Given the description of an element on the screen output the (x, y) to click on. 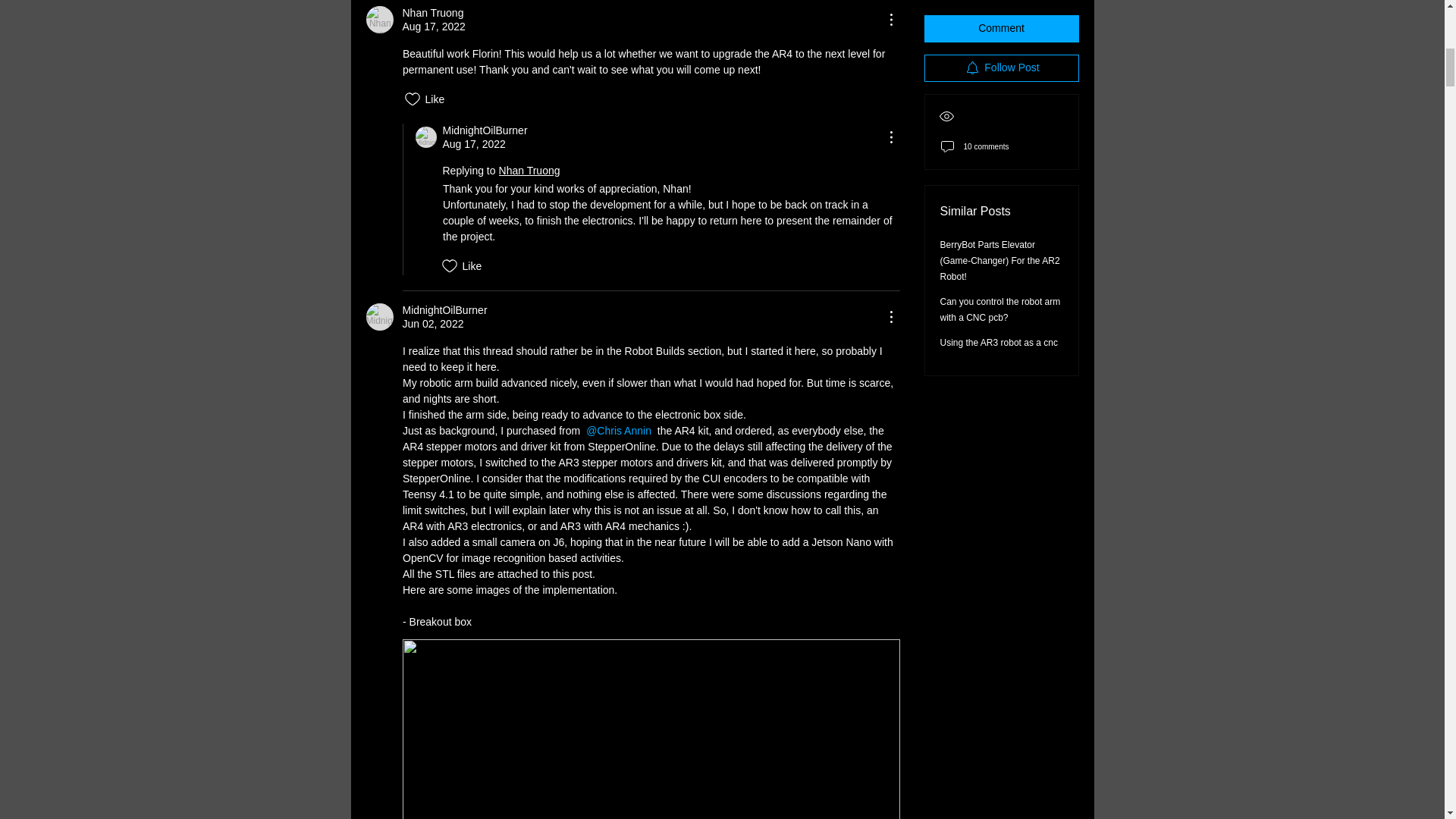
MidnightOilBurner (425, 137)
Nhan Truong (379, 19)
Nhan Truong (531, 170)
MidnightOilBurner (443, 310)
MidnightOilBurner (484, 130)
Nhan Truong (432, 12)
MidnightOilBurner (379, 316)
